Given the description of an element on the screen output the (x, y) to click on. 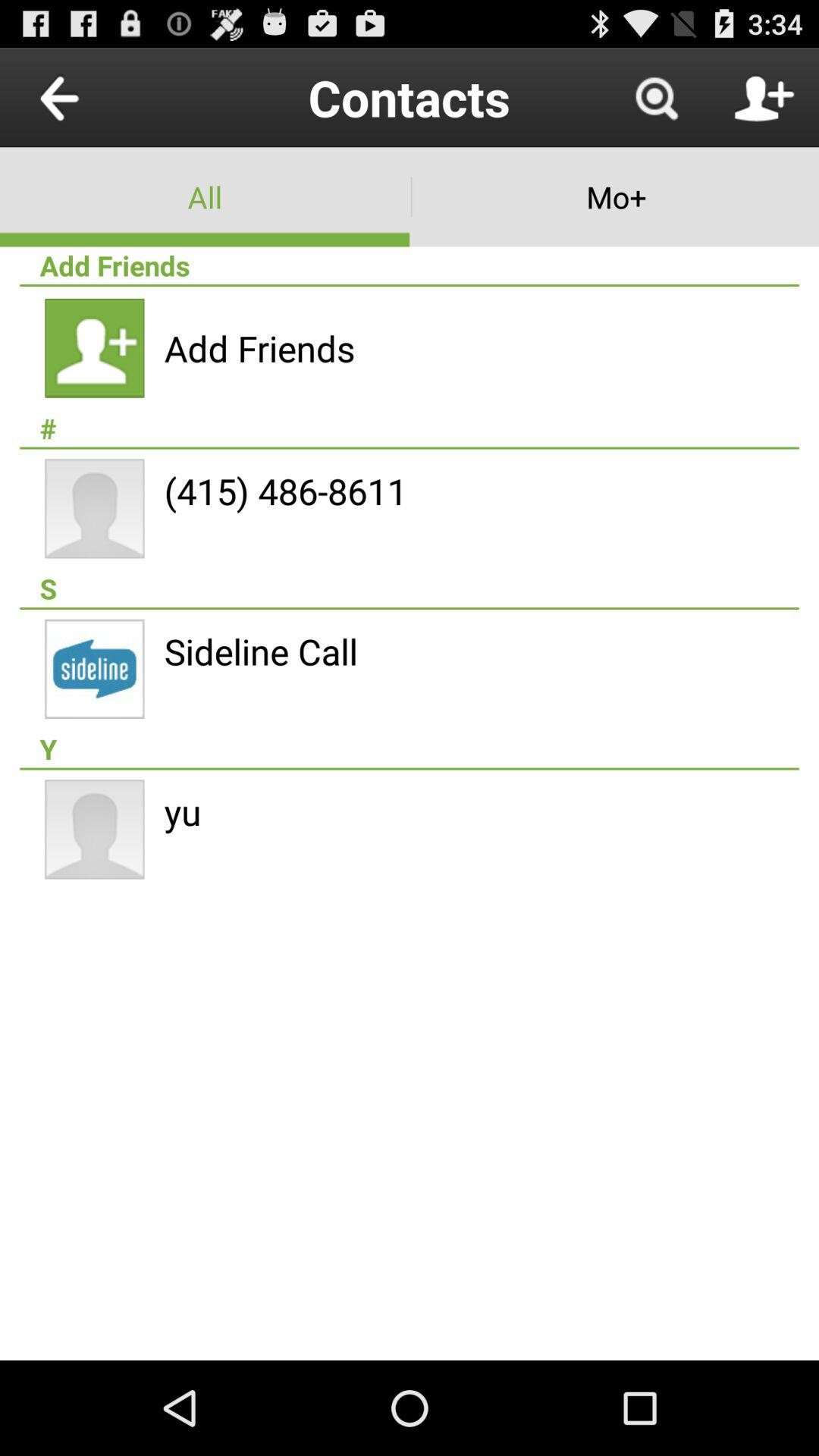
search (655, 97)
